Given the description of an element on the screen output the (x, y) to click on. 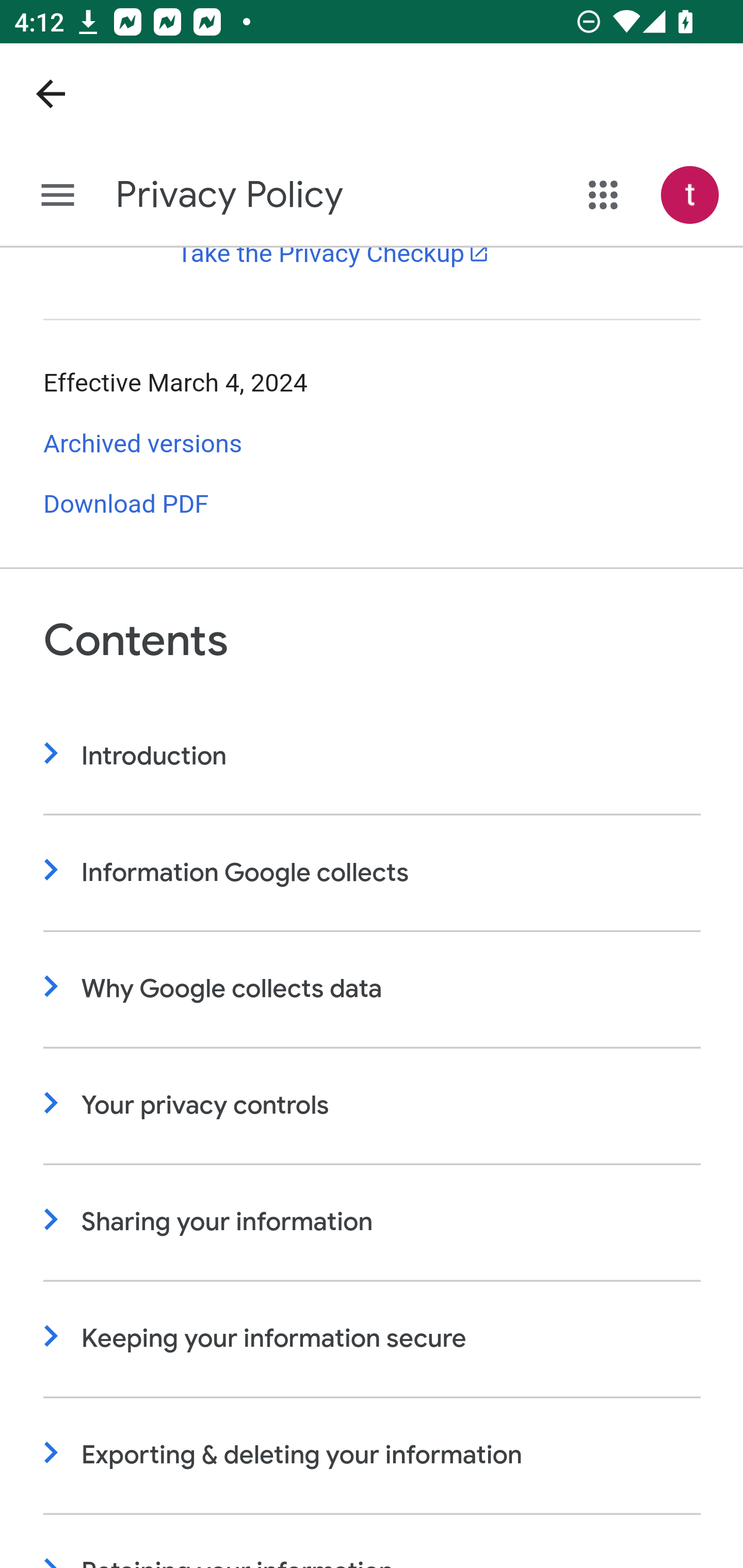
Navigate up (50, 93)
Main menu (58, 195)
Google apps (603, 195)
Take the Privacy Checkup (333, 254)
Archived versions (143, 443)
Download PDF (126, 505)
Introduction (372, 756)
Information Google collects (372, 873)
Why Google collects data (372, 989)
Your privacy controls (372, 1105)
Sharing your information (372, 1222)
Keeping your information secure (372, 1339)
Exporting & deleting your information (372, 1455)
